Given the description of an element on the screen output the (x, y) to click on. 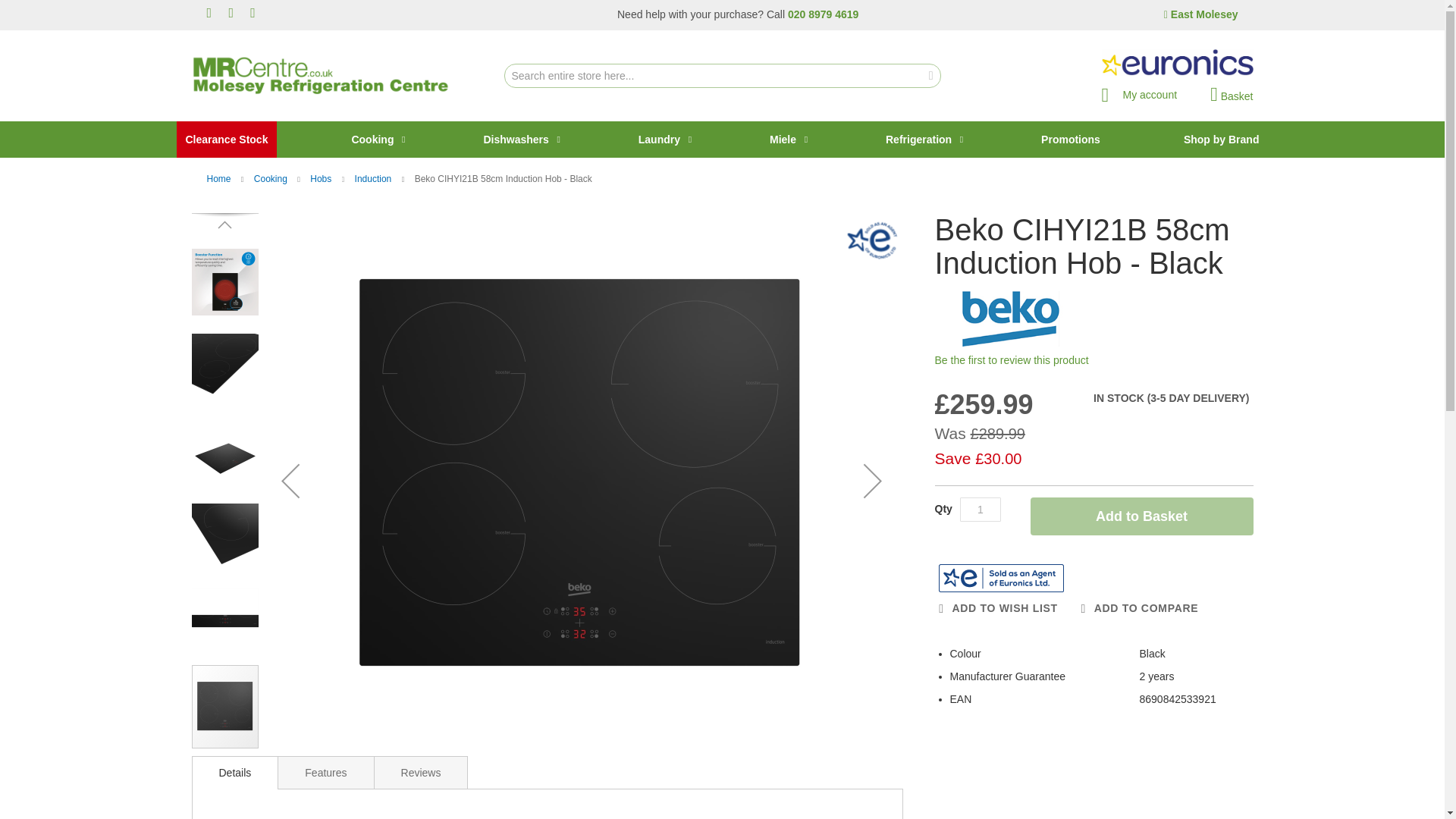
020 8979 4619 (823, 14)
Qty (980, 509)
Availability (1165, 398)
Cooking (375, 139)
Euronics (872, 239)
For more on Beko, click here. (1010, 318)
Basket (1230, 94)
East Molesey (1201, 14)
My account (1138, 90)
Add to Basket (1140, 516)
Go to Home Page (219, 178)
Clearance Stock (226, 139)
1 (980, 509)
Euronics Agency Product Page (1001, 577)
